Given the description of an element on the screen output the (x, y) to click on. 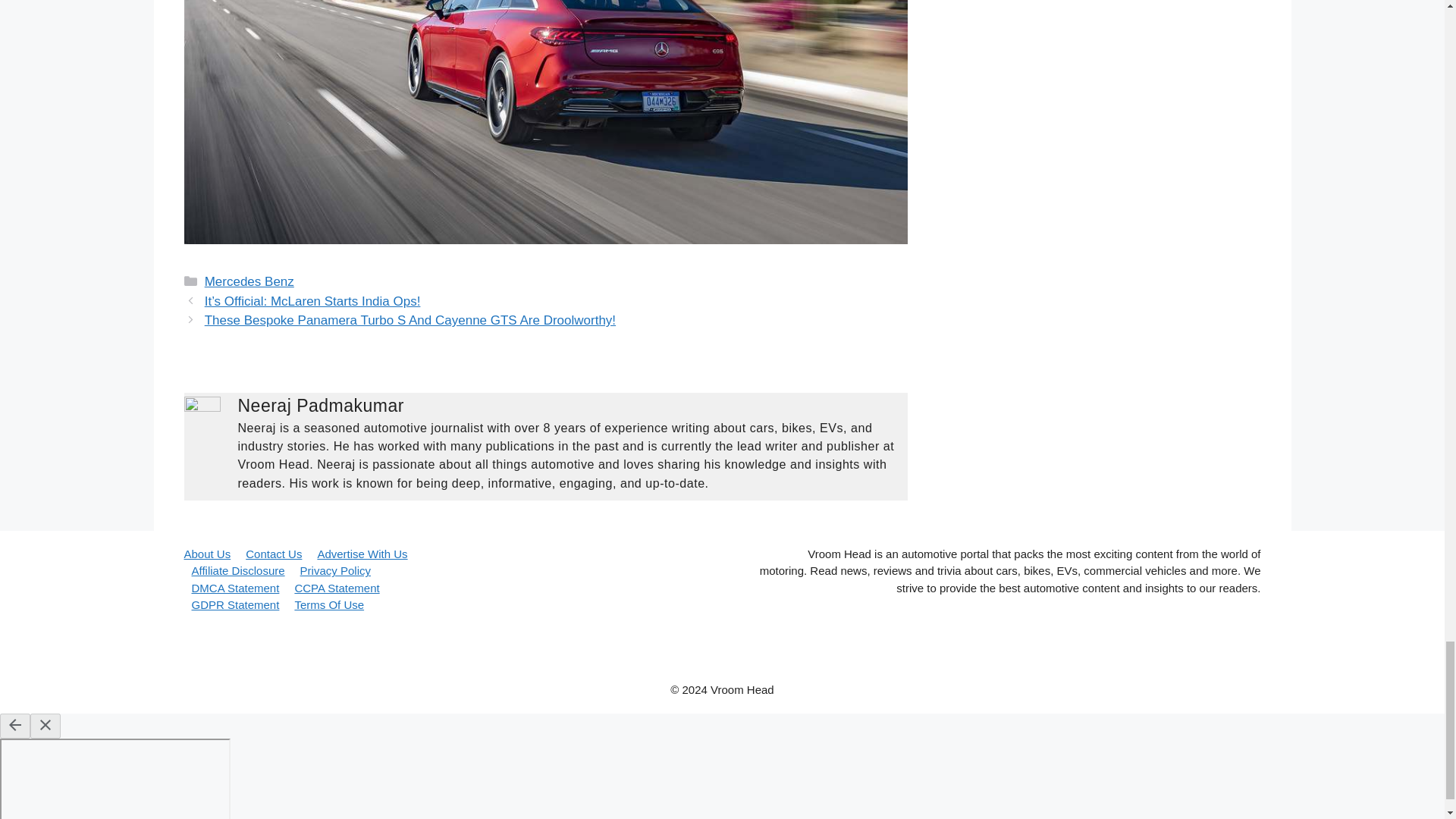
Advertise With Us (362, 553)
Contact Us (273, 553)
About Us (206, 553)
Mercedes Benz (249, 281)
